Given the description of an element on the screen output the (x, y) to click on. 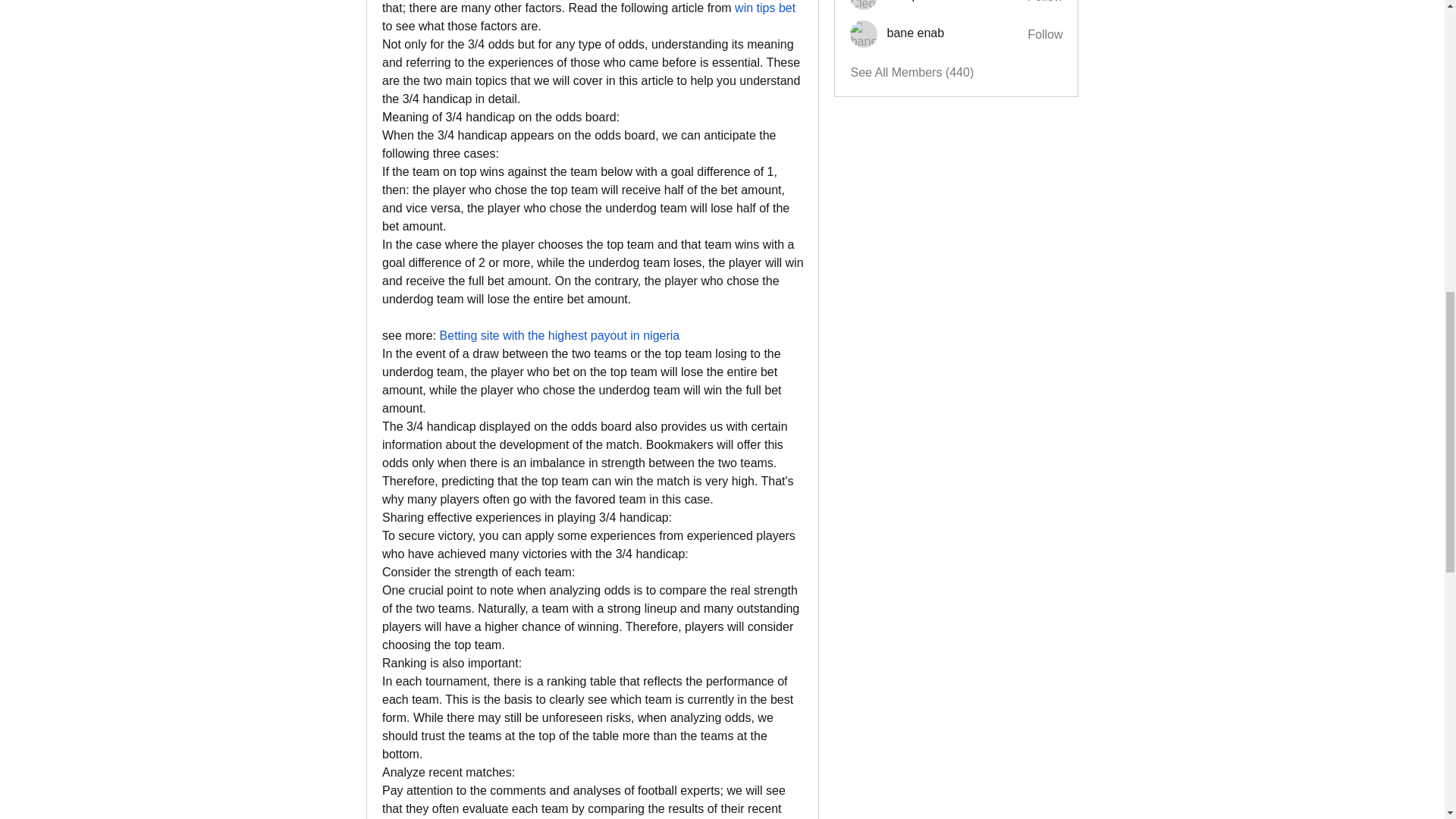
win tips bet (764, 7)
Cleopatra Farahzex (863, 4)
Betting site with the highest payout in nigeria (559, 335)
bane enab (863, 33)
